Given the description of an element on the screen output the (x, y) to click on. 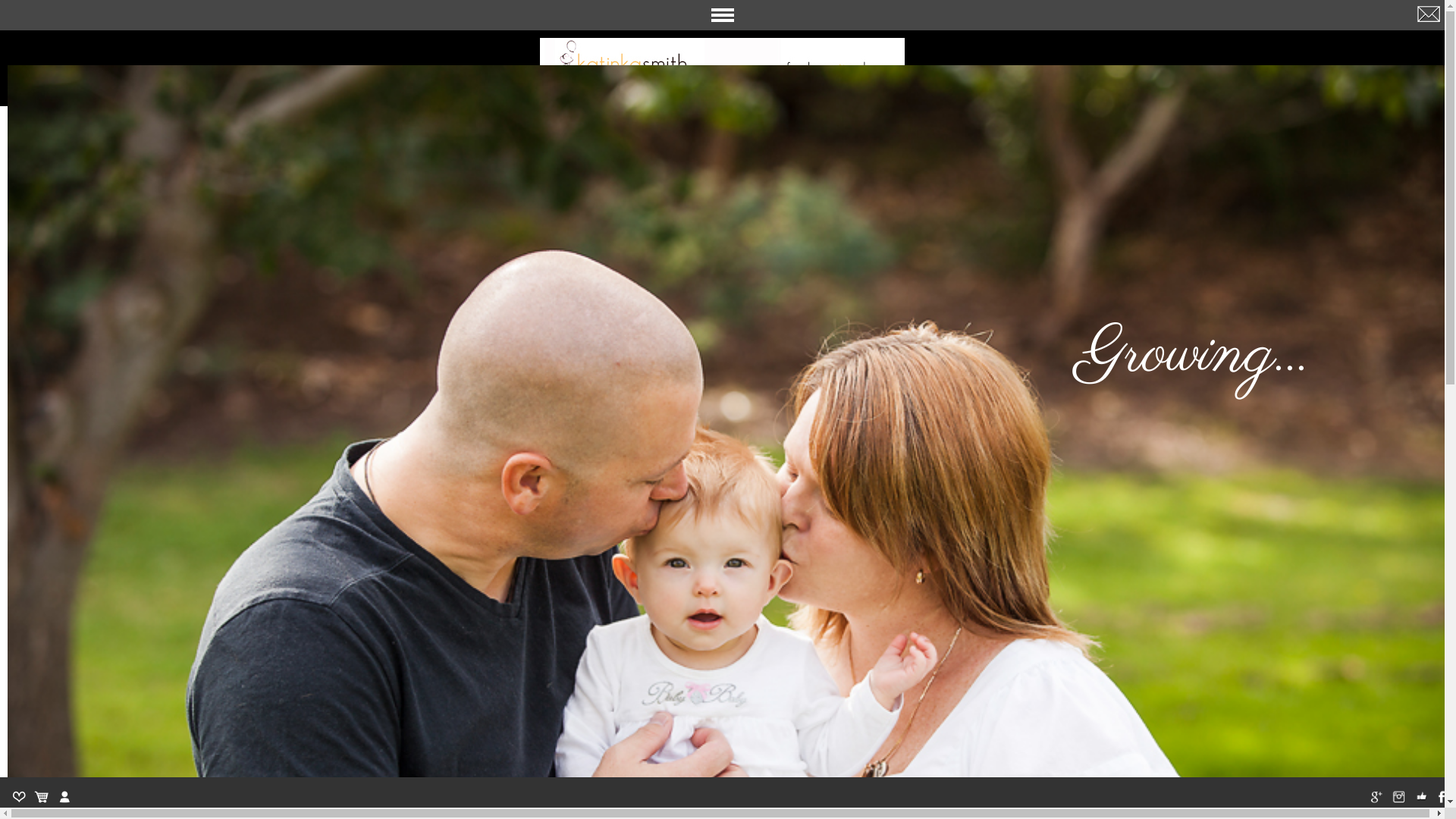
enter password Element type: text (71, 33)
SUBMIT Element type: text (154, 33)
